Given the description of an element on the screen output the (x, y) to click on. 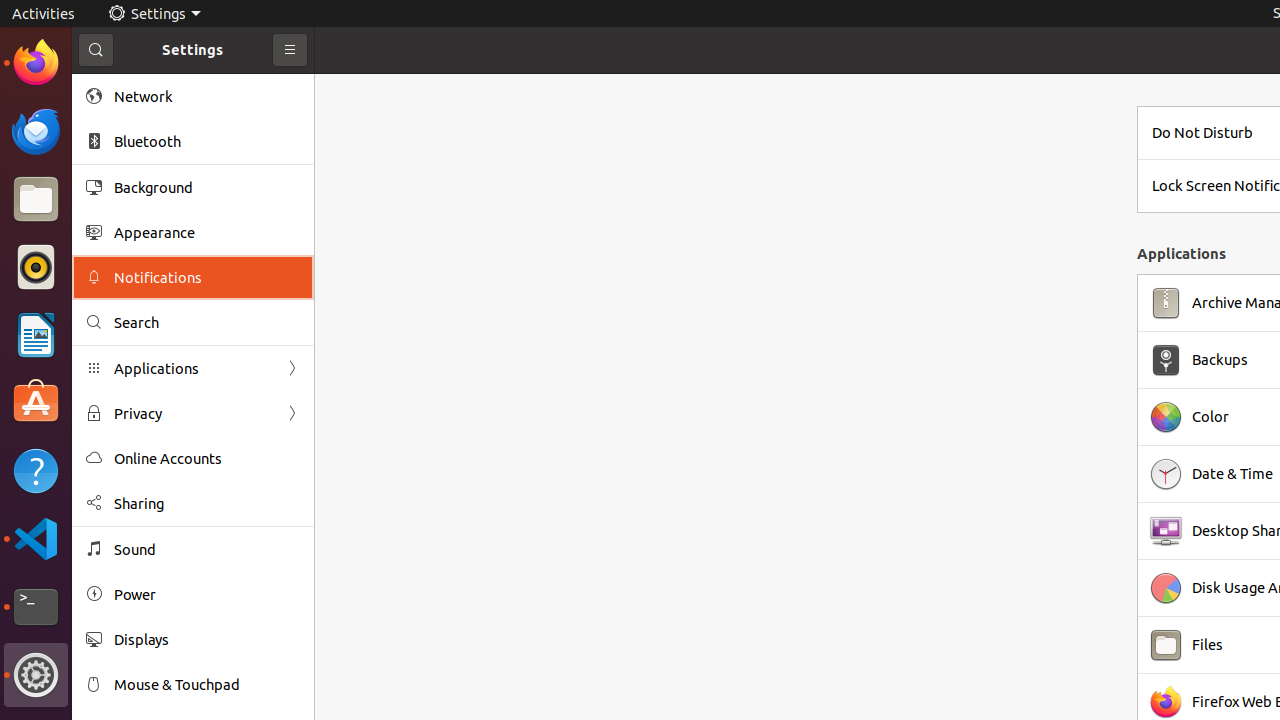
Applications Element type: label (193, 368)
Power Element type: label (207, 594)
IsaHelpMain.desktop Element type: label (133, 300)
Terminal Element type: push-button (36, 607)
